Given the description of an element on the screen output the (x, y) to click on. 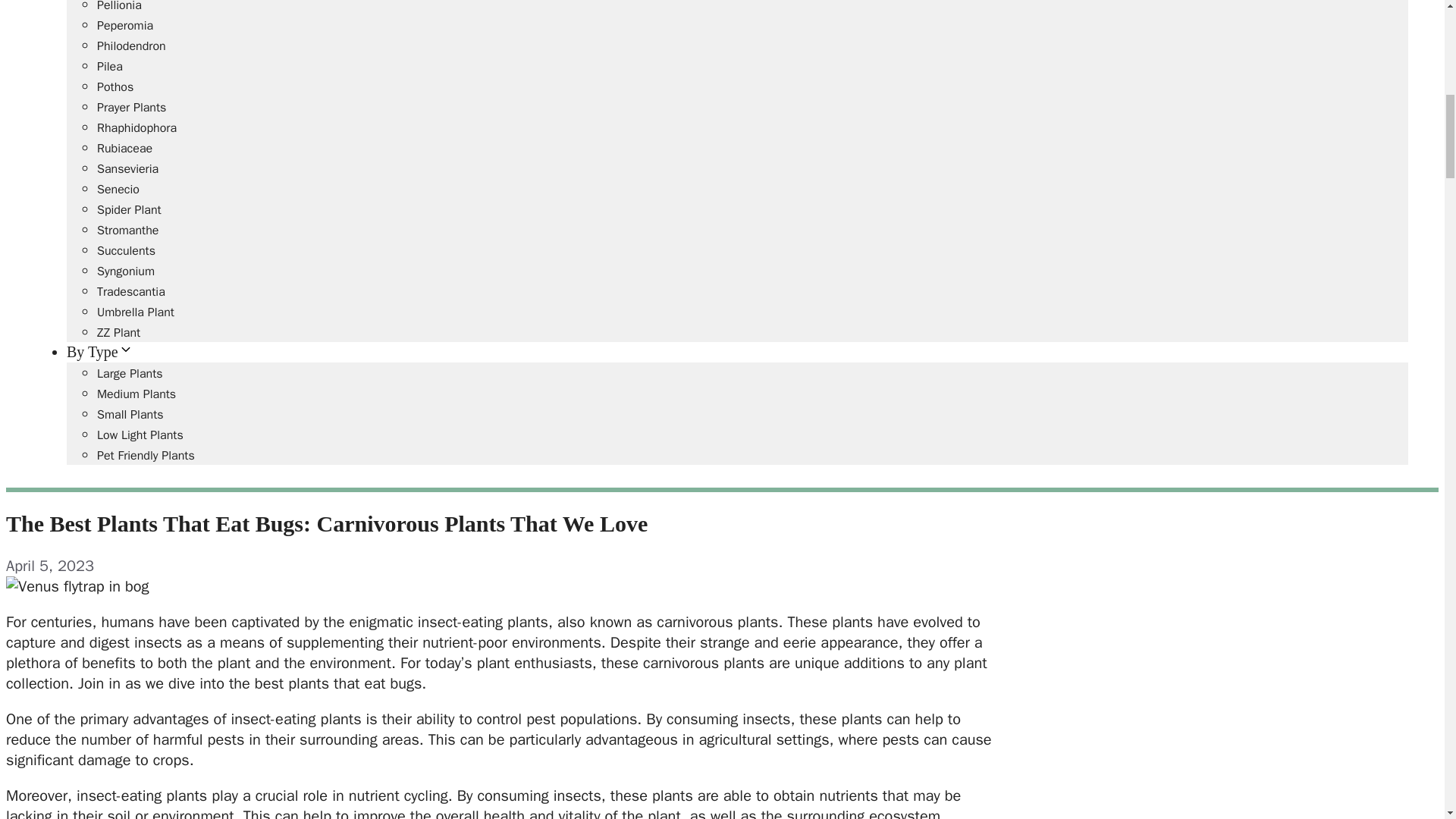
Peperomia (124, 25)
Pellionia (119, 6)
